Given the description of an element on the screen output the (x, y) to click on. 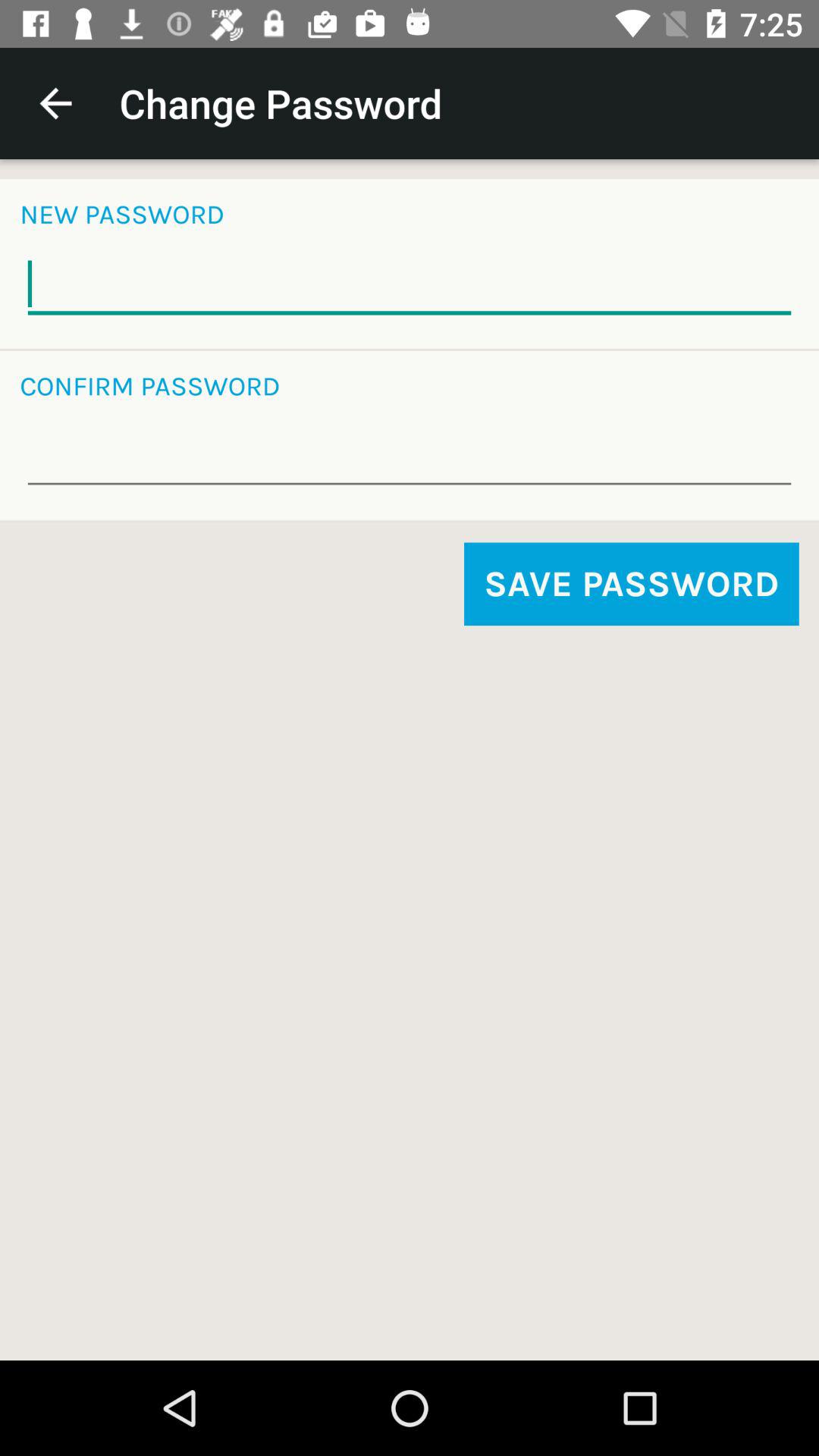
input password for verification (409, 456)
